Given the description of an element on the screen output the (x, y) to click on. 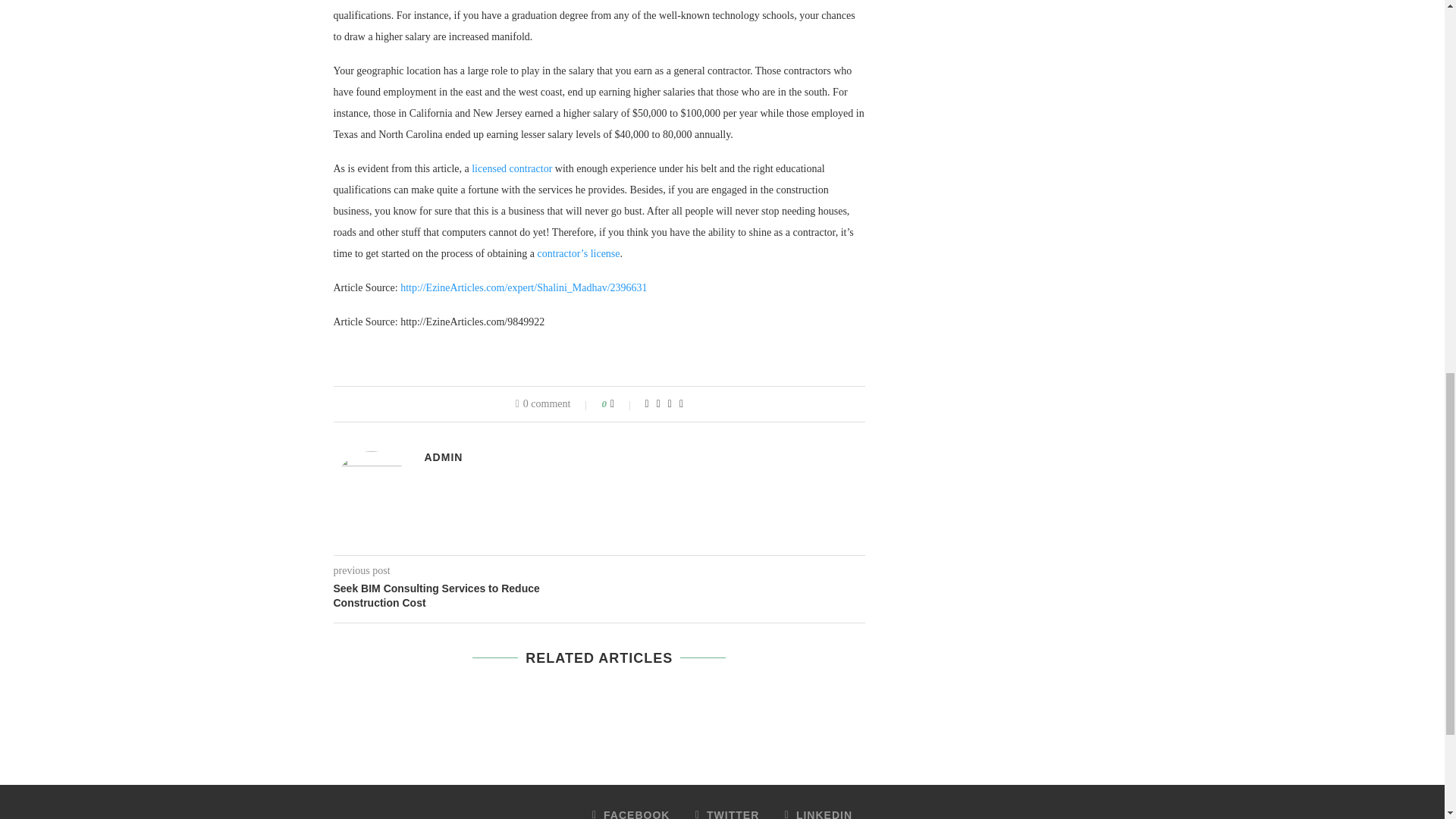
Like (622, 404)
licensed contractor (511, 168)
Posts by admin (444, 457)
